Given the description of an element on the screen output the (x, y) to click on. 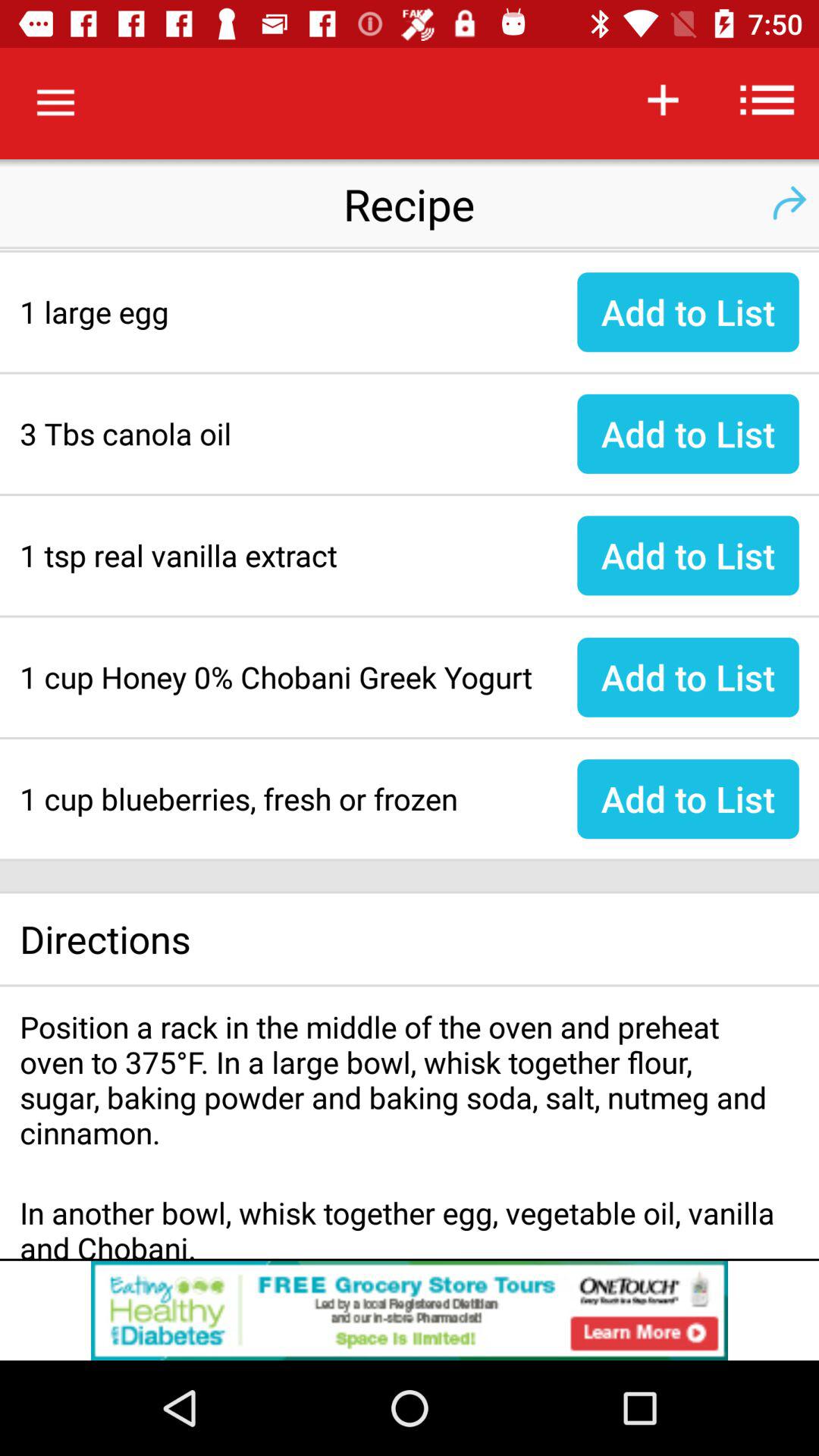
click on arrow icon which is right to text recepie (789, 203)
click on the button which is to the right of the text 3 tbs canola oil (688, 434)
select the icon of  symbol (662, 99)
select the add to list beside large egg (688, 312)
click on icon next to  icon at top right (766, 99)
